Given the description of an element on the screen output the (x, y) to click on. 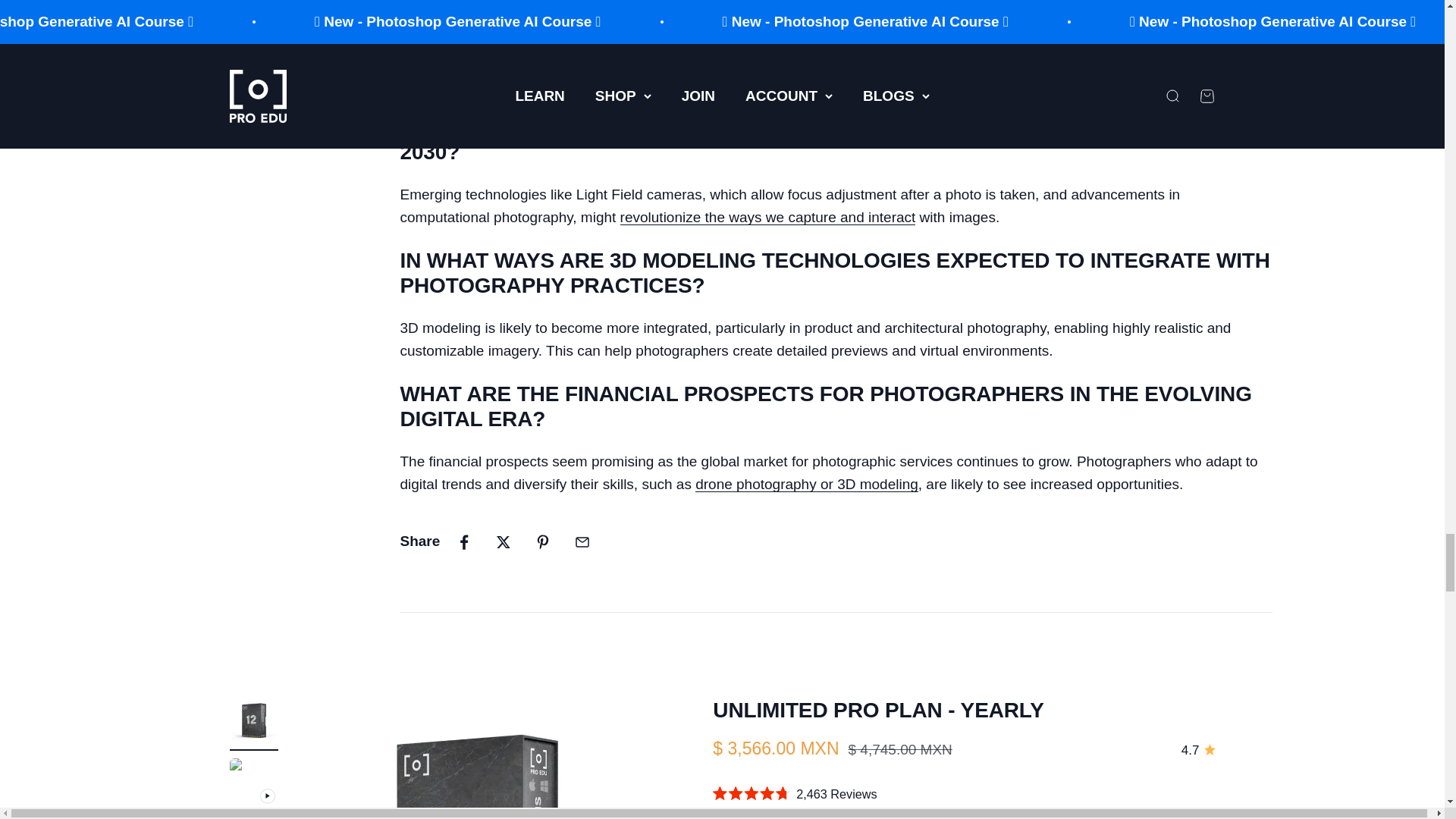
2463 reviews (1197, 750)
